Given the description of an element on the screen output the (x, y) to click on. 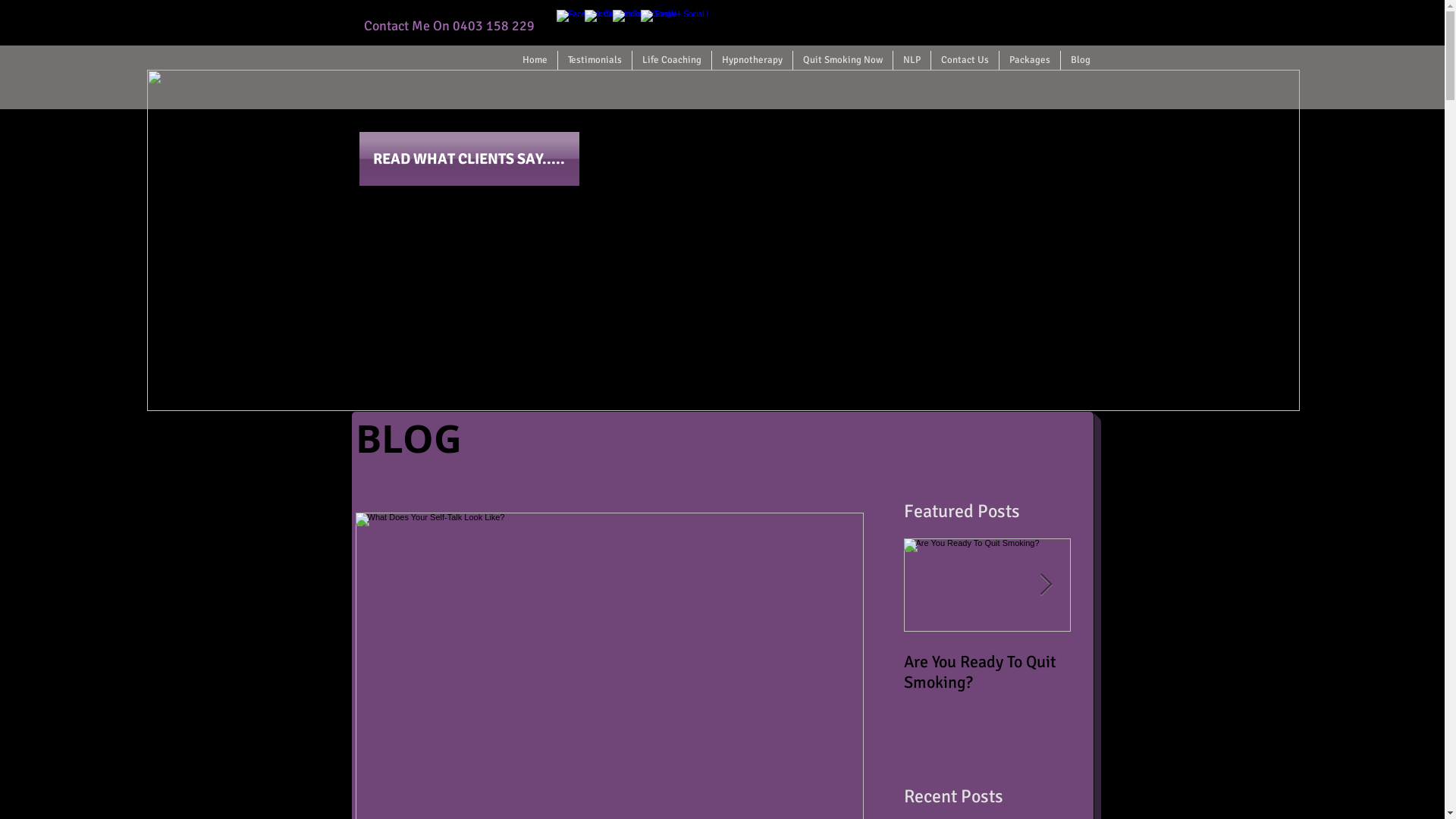
Hypnotherapy Element type: text (751, 59)
What Does Your Self-Talk Look Like? Element type: text (1153, 671)
Contact Us Element type: text (964, 59)
Blog Element type: text (1079, 59)
Packages Element type: text (1029, 59)
Are You Ready To Quit Smoking? Element type: text (986, 671)
Life Coaching Element type: text (671, 59)
READ WHAT CLIENTS SAY..... Element type: text (469, 158)
Home Element type: text (534, 59)
NLP Element type: text (911, 59)
Testimonials Element type: text (594, 59)
Quit Smoking Now Element type: text (842, 59)
